Given the description of an element on the screen output the (x, y) to click on. 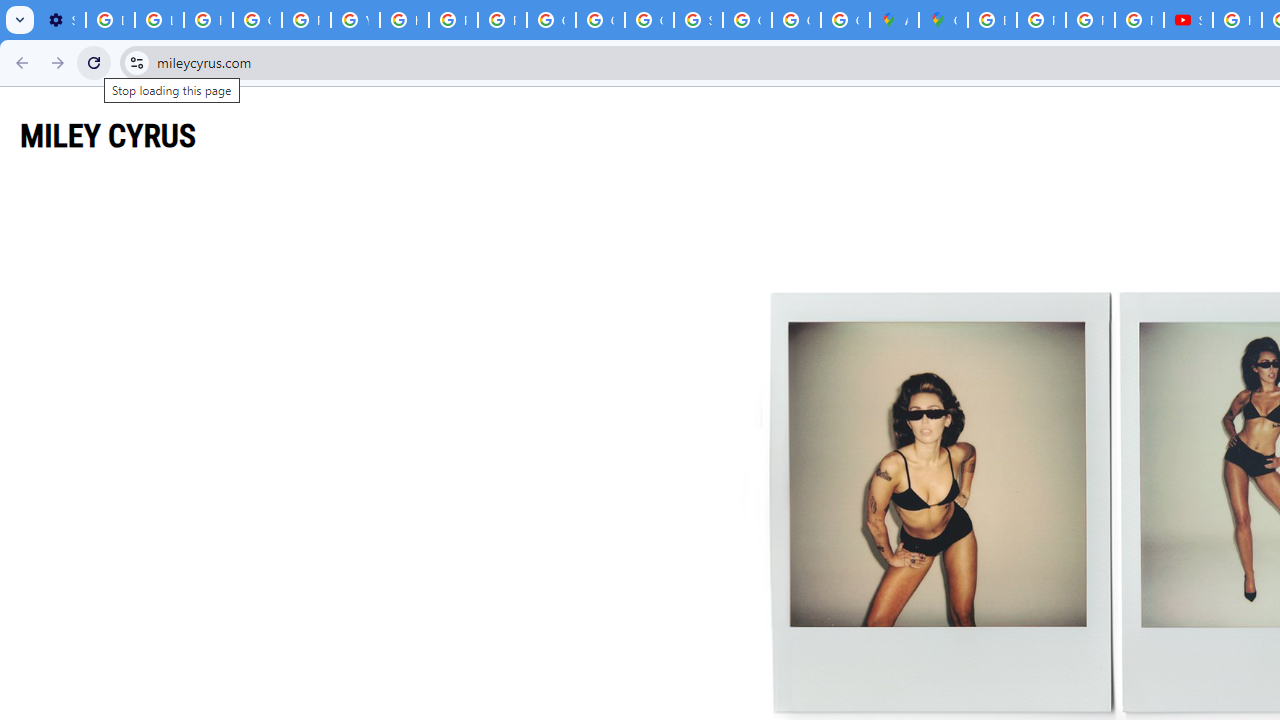
Google Maps (943, 20)
Privacy Help Center - Policies Help (1090, 20)
Settings - Customize profile (61, 20)
Blogger Policies and Guidelines - Transparency Center (992, 20)
Delete photos & videos - Computer - Google Photos Help (109, 20)
MILEY CYRUS (107, 135)
Privacy Help Center - Policies Help (306, 20)
